Given the description of an element on the screen output the (x, y) to click on. 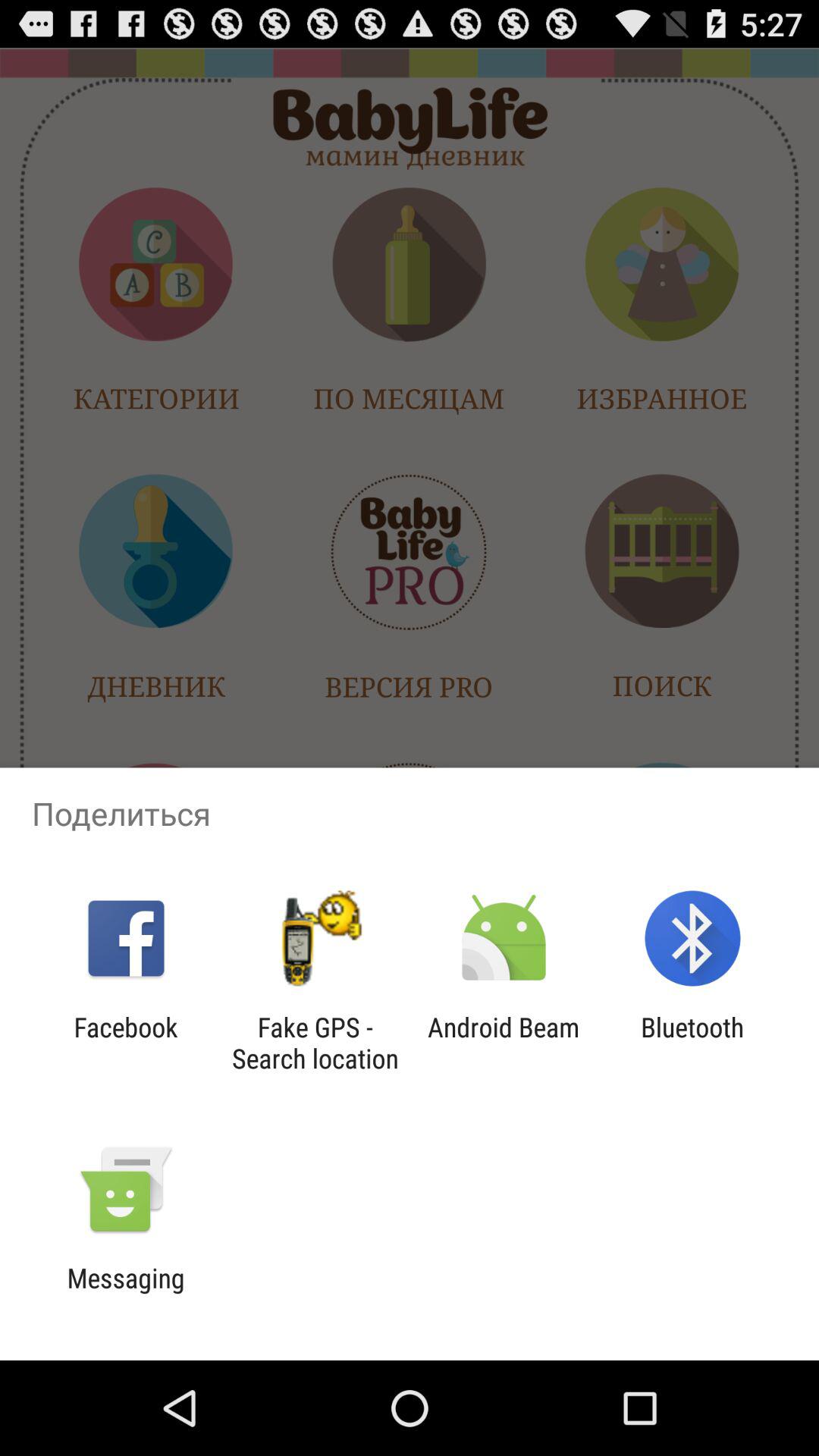
choose the item next to the fake gps search item (503, 1042)
